Given the description of an element on the screen output the (x, y) to click on. 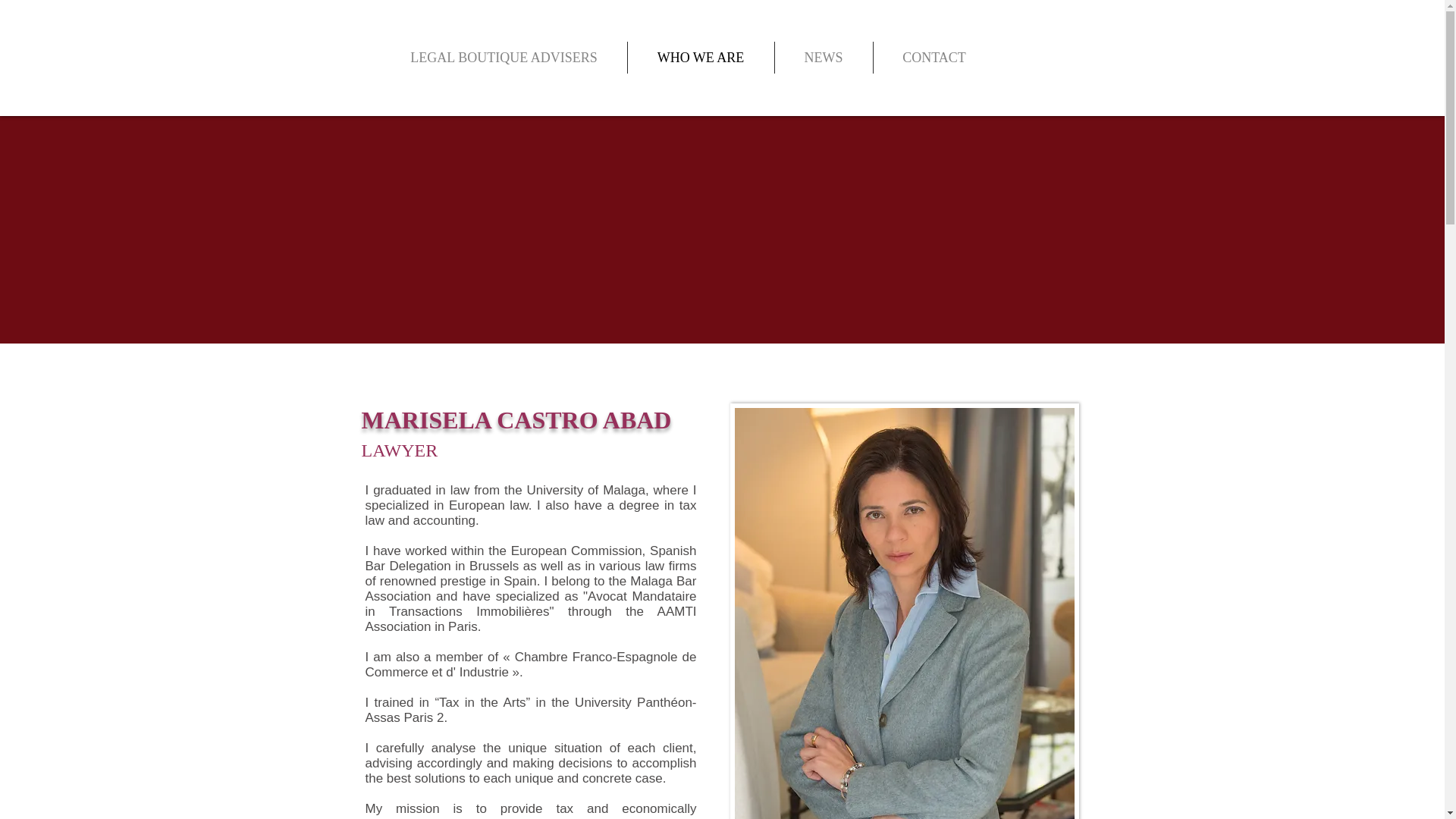
LEGAL BOUTIQUE ADVISERS (503, 57)
CONTACT (934, 57)
NEWS (823, 57)
WHO WE ARE (700, 57)
